Given the description of an element on the screen output the (x, y) to click on. 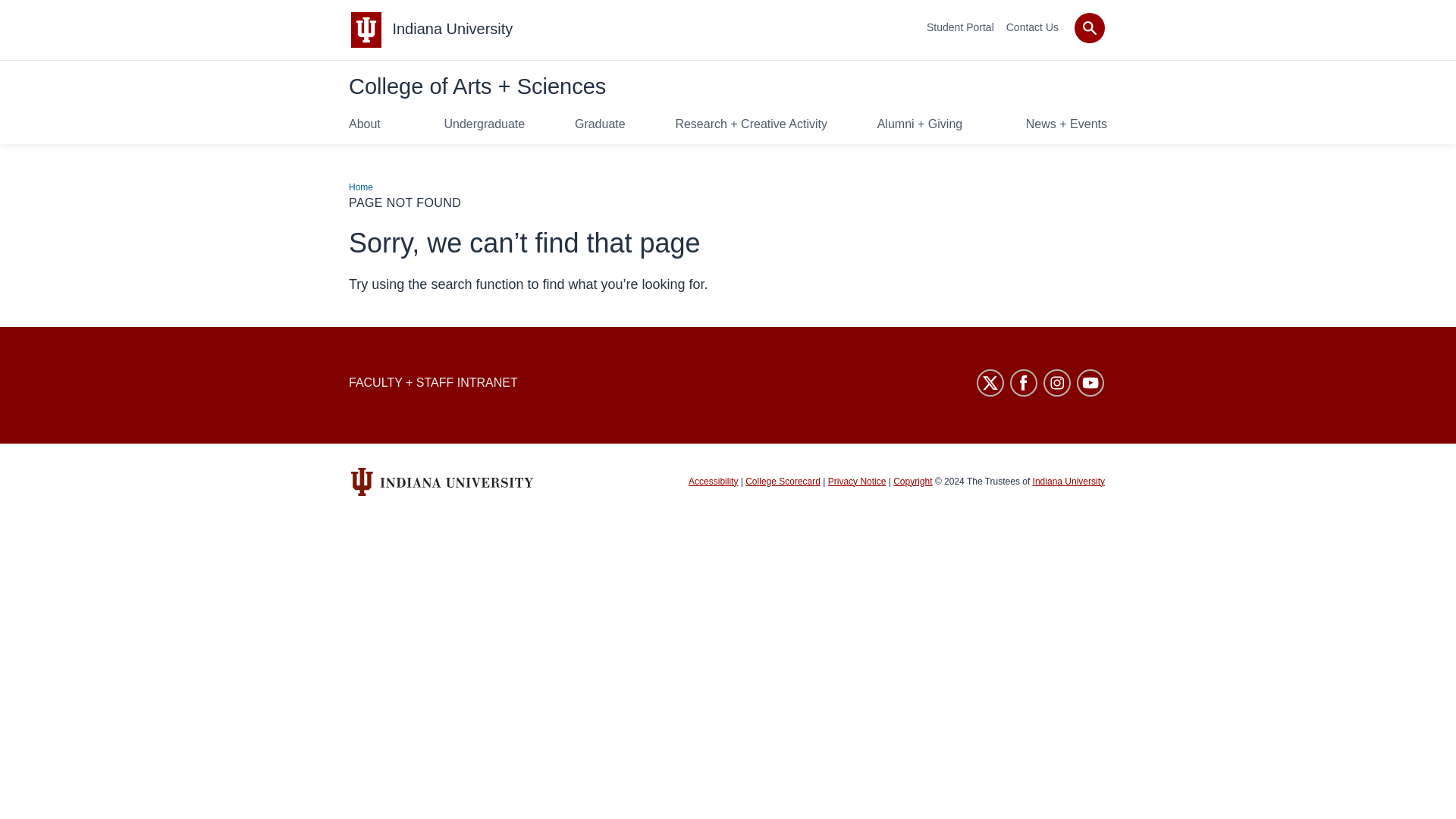
Indiana University (451, 28)
Indiana University (451, 28)
